Given the description of an element on the screen output the (x, y) to click on. 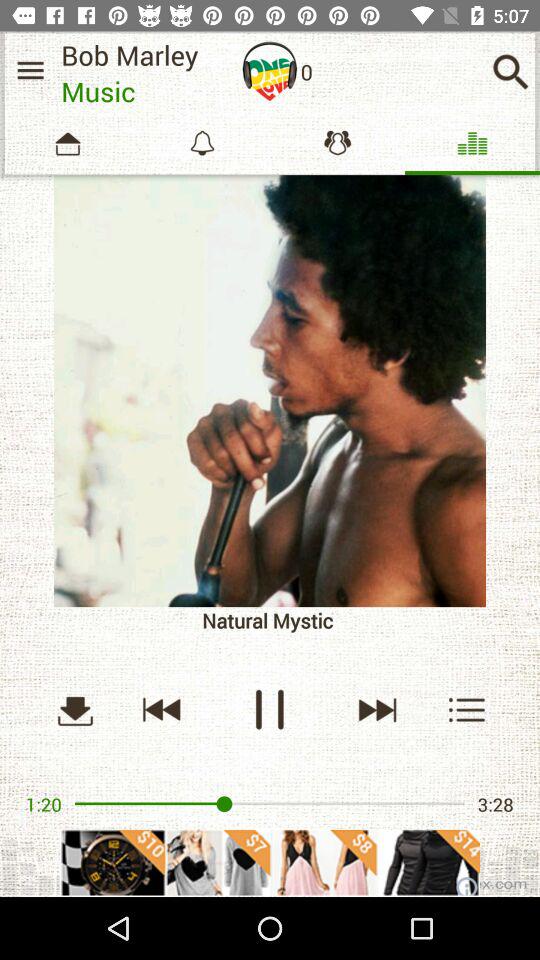
show main menu (30, 69)
